Given the description of an element on the screen output the (x, y) to click on. 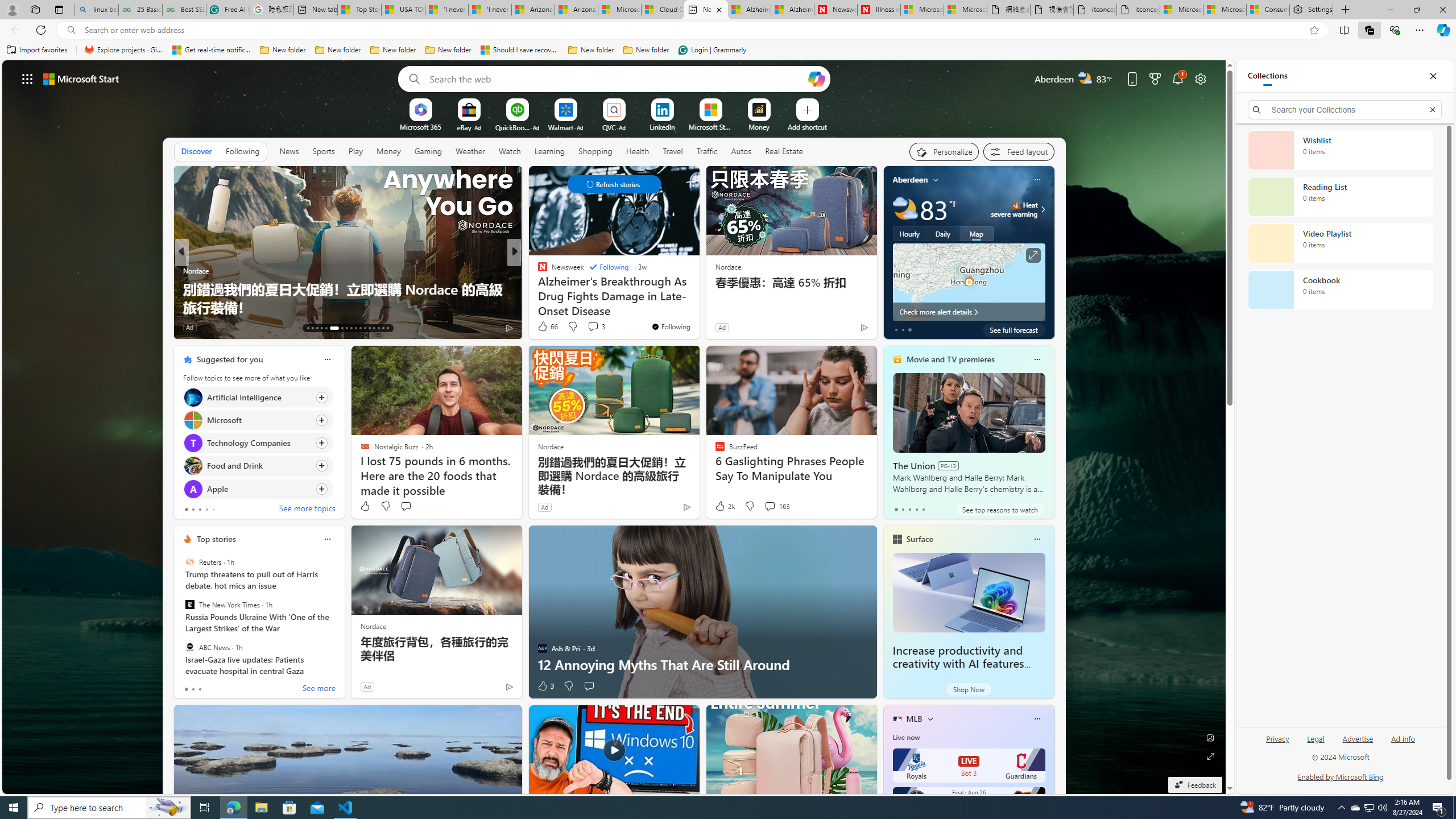
The New York Times (189, 604)
tab-4 (923, 509)
Partly cloudy (904, 208)
Click to follow topic Apple (257, 488)
View comments 115 Comment (599, 327)
Edit Background (1210, 737)
Click to follow topic Food and Drink (257, 465)
Travel (672, 151)
Learning (549, 151)
Feed settings (1018, 151)
Gaming (428, 151)
